Given the description of an element on the screen output the (x, y) to click on. 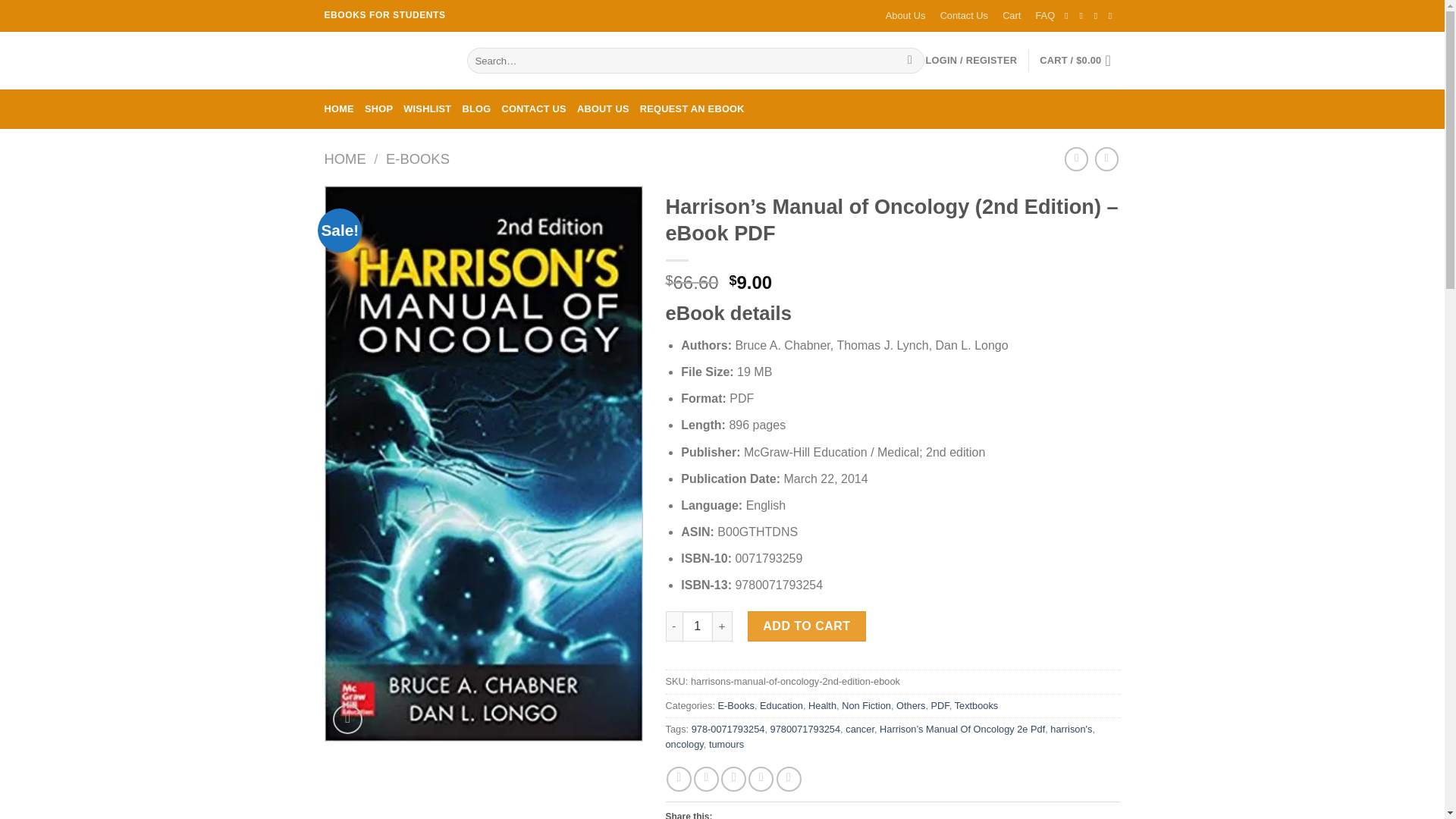
1 (697, 625)
E-BOOKS (417, 158)
Health (821, 705)
E-Books (735, 705)
REQUEST AN EBOOK (692, 108)
Education (781, 705)
Contact Us (964, 15)
WISHLIST (427, 108)
CONTACT US (533, 108)
ADD TO CART (807, 625)
Cart (1079, 60)
Qty (697, 625)
Cart (1011, 15)
HOME (345, 158)
ABOUT US (602, 108)
